Given the description of an element on the screen output the (x, y) to click on. 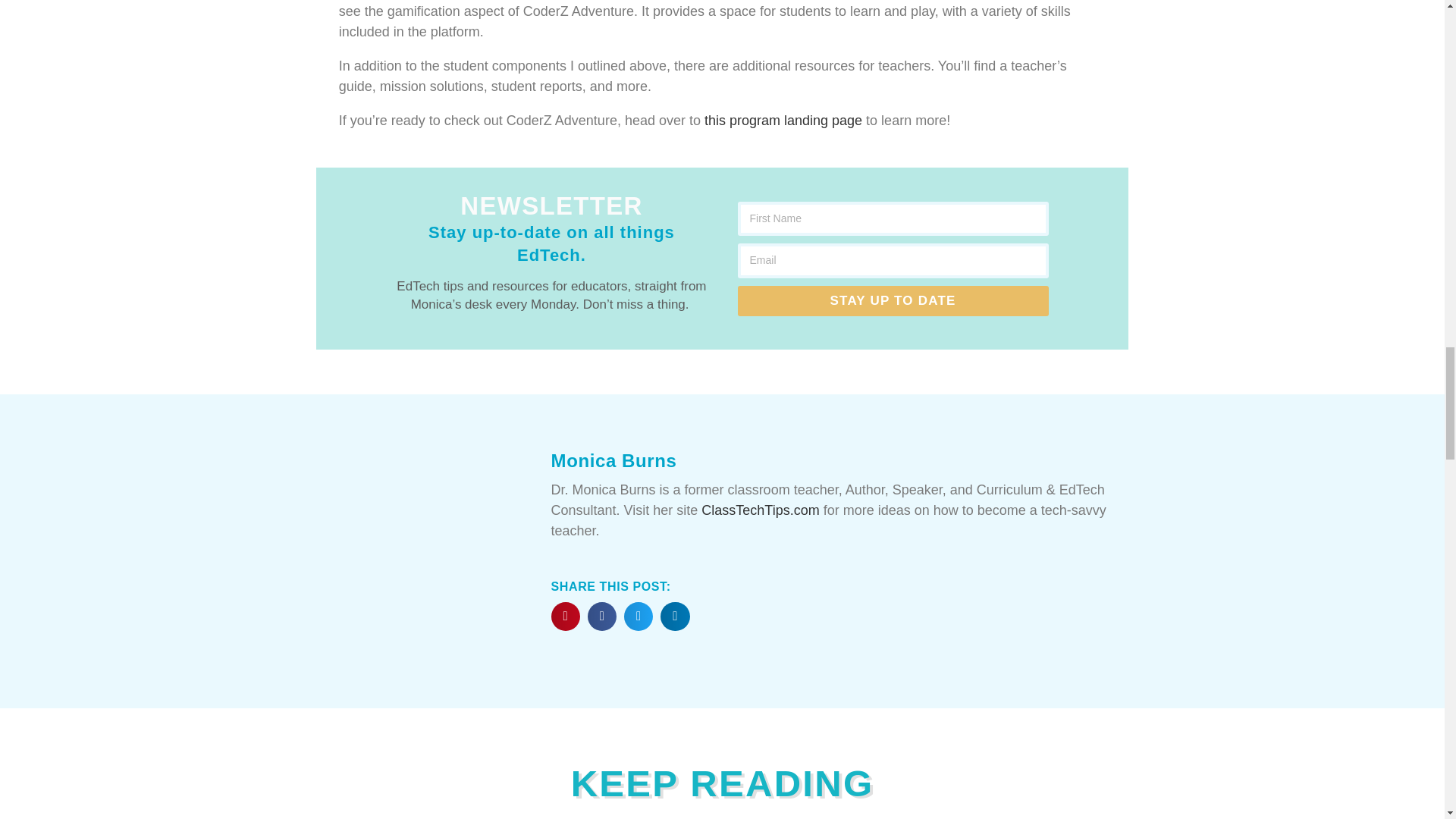
this program landing page (782, 120)
ClassTechTips.com (759, 509)
STAY UP TO DATE (892, 300)
